Given the description of an element on the screen output the (x, y) to click on. 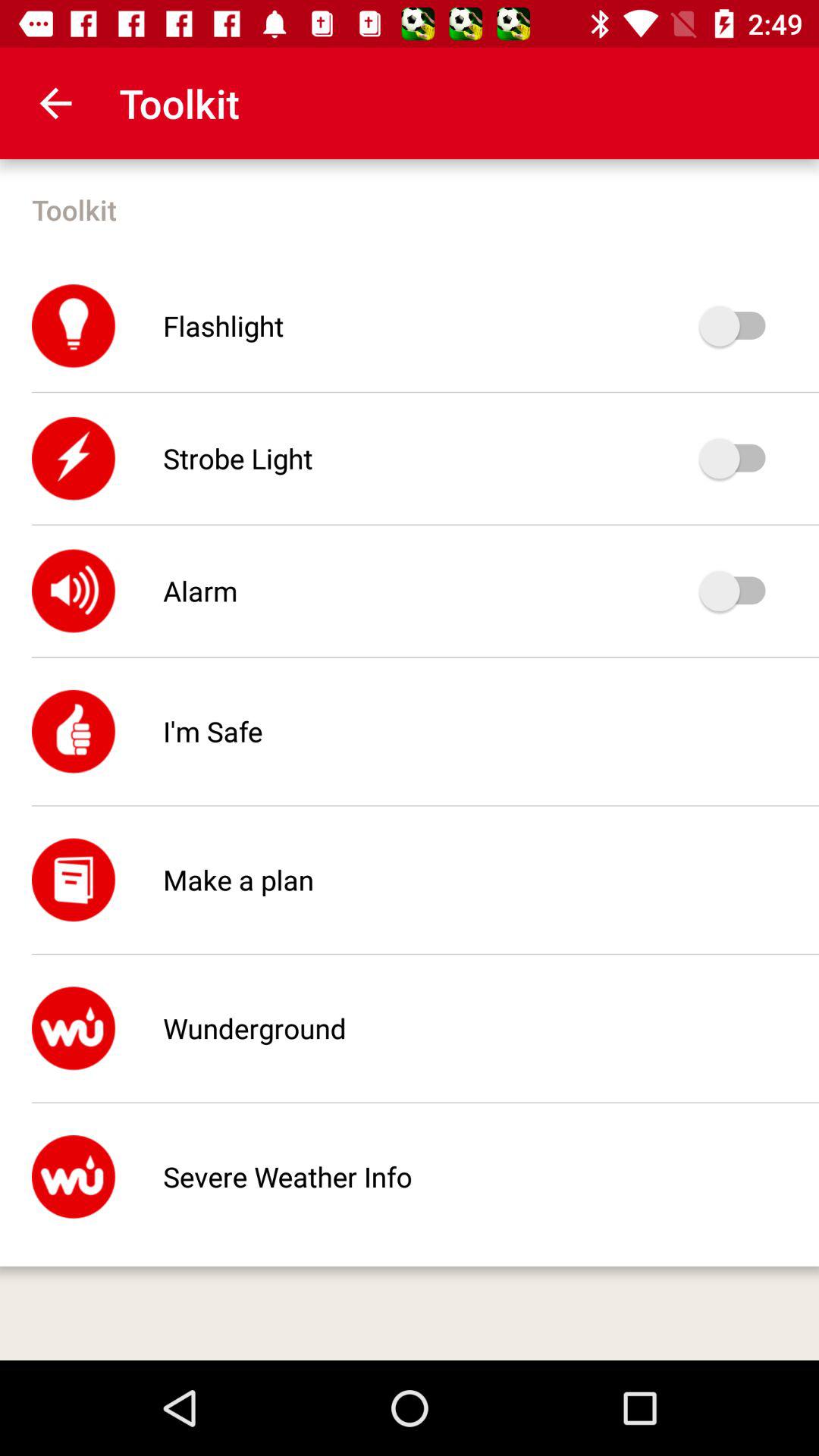
launch the app to the left of toolkit app (55, 103)
